Given the description of an element on the screen output the (x, y) to click on. 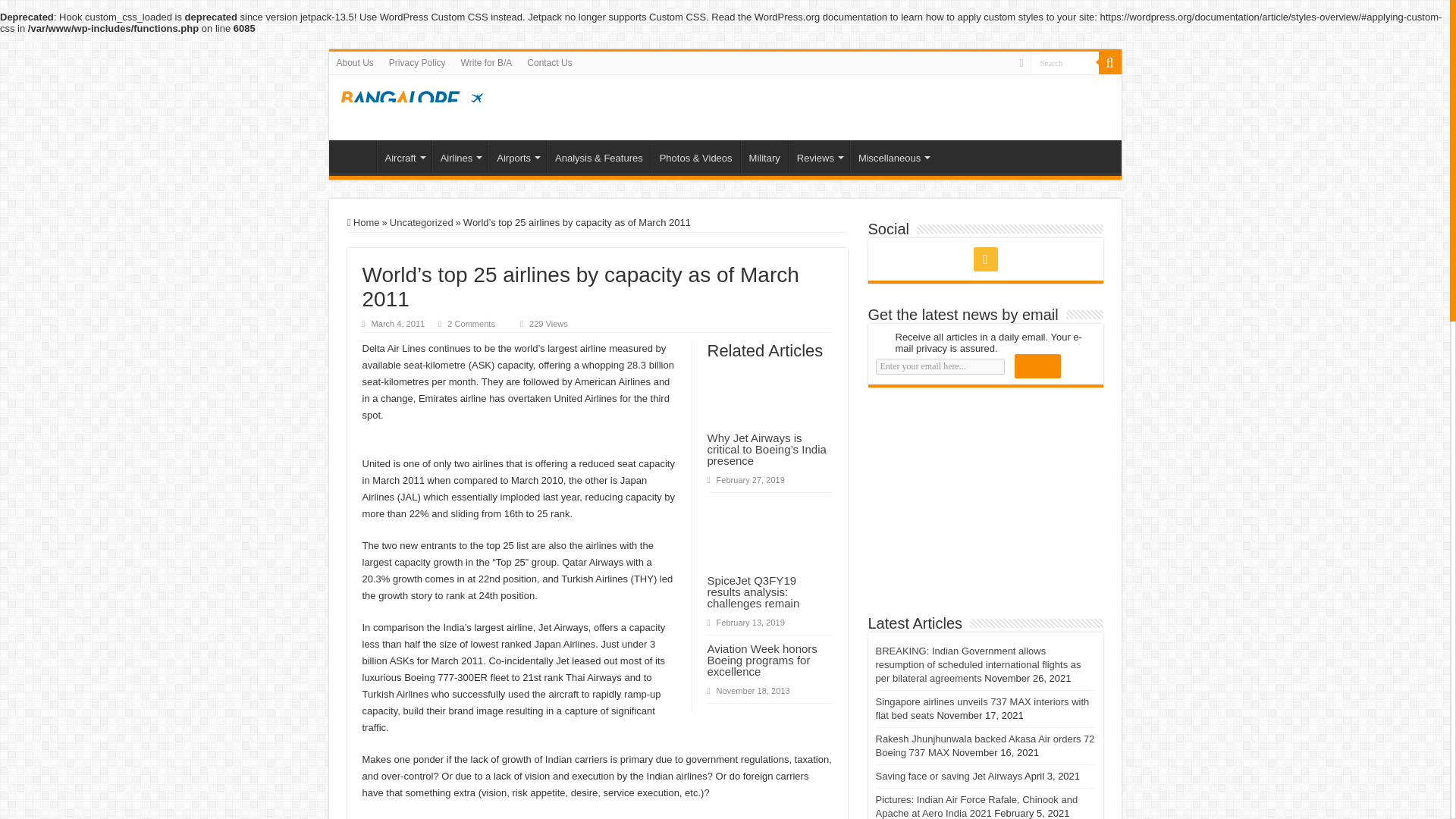
Search (1063, 62)
Search (1109, 62)
Search (1063, 62)
Aircraft (402, 155)
Subscribe (1037, 365)
Search (1063, 62)
Privacy Policy (416, 62)
Contact Us (549, 62)
Enter your email here... (939, 366)
Airports (516, 155)
